Given the description of an element on the screen output the (x, y) to click on. 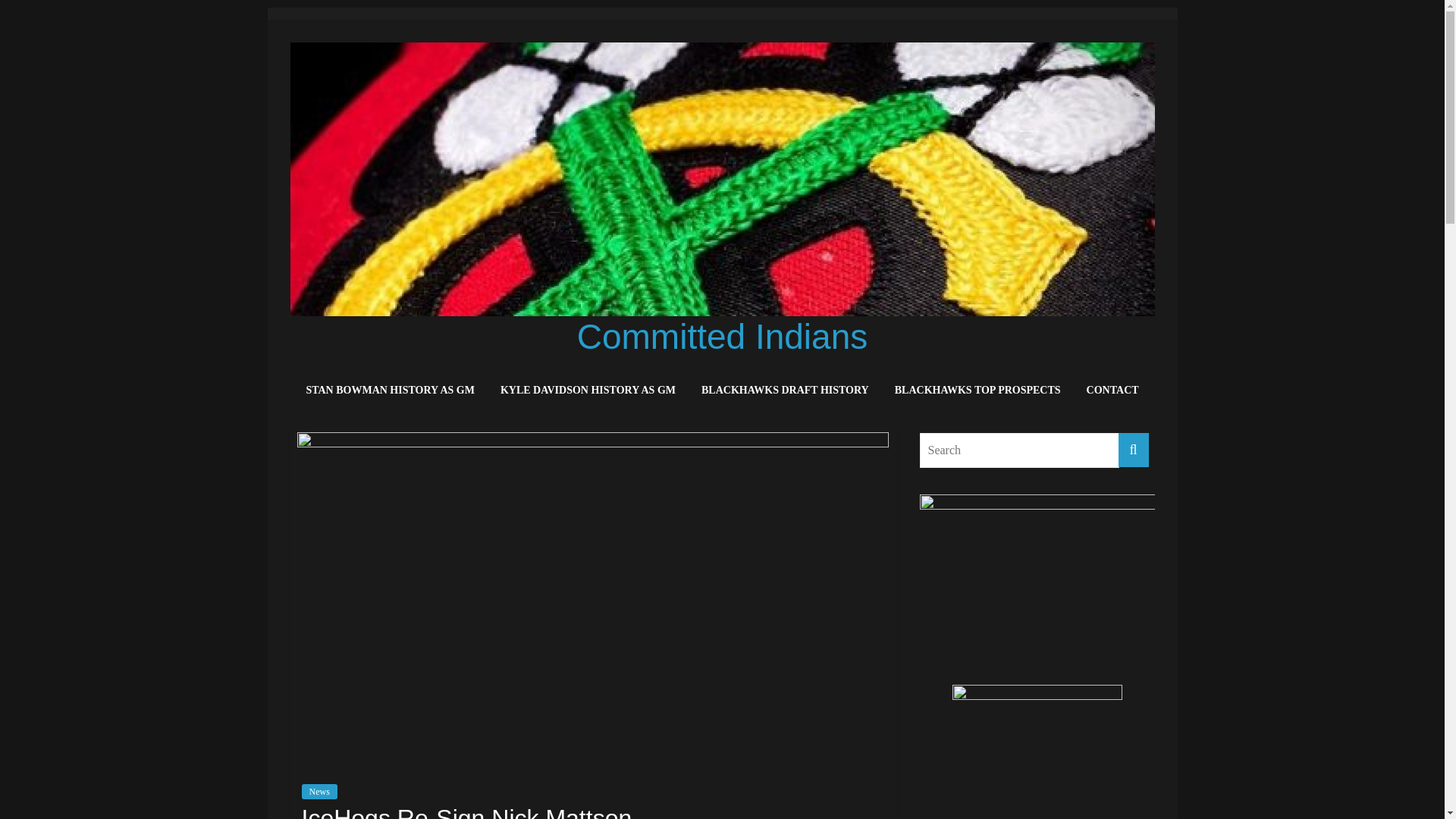
Committed Indians (721, 336)
BLACKHAWKS TOP PROSPECTS (977, 391)
CONTACT (1112, 391)
Committed Indians (721, 336)
KYLE DAVIDSON HISTORY AS GM (588, 391)
STAN BOWMAN HISTORY AS GM (390, 391)
News (319, 791)
BLACKHAWKS DRAFT HISTORY (785, 391)
